Given the description of an element on the screen output the (x, y) to click on. 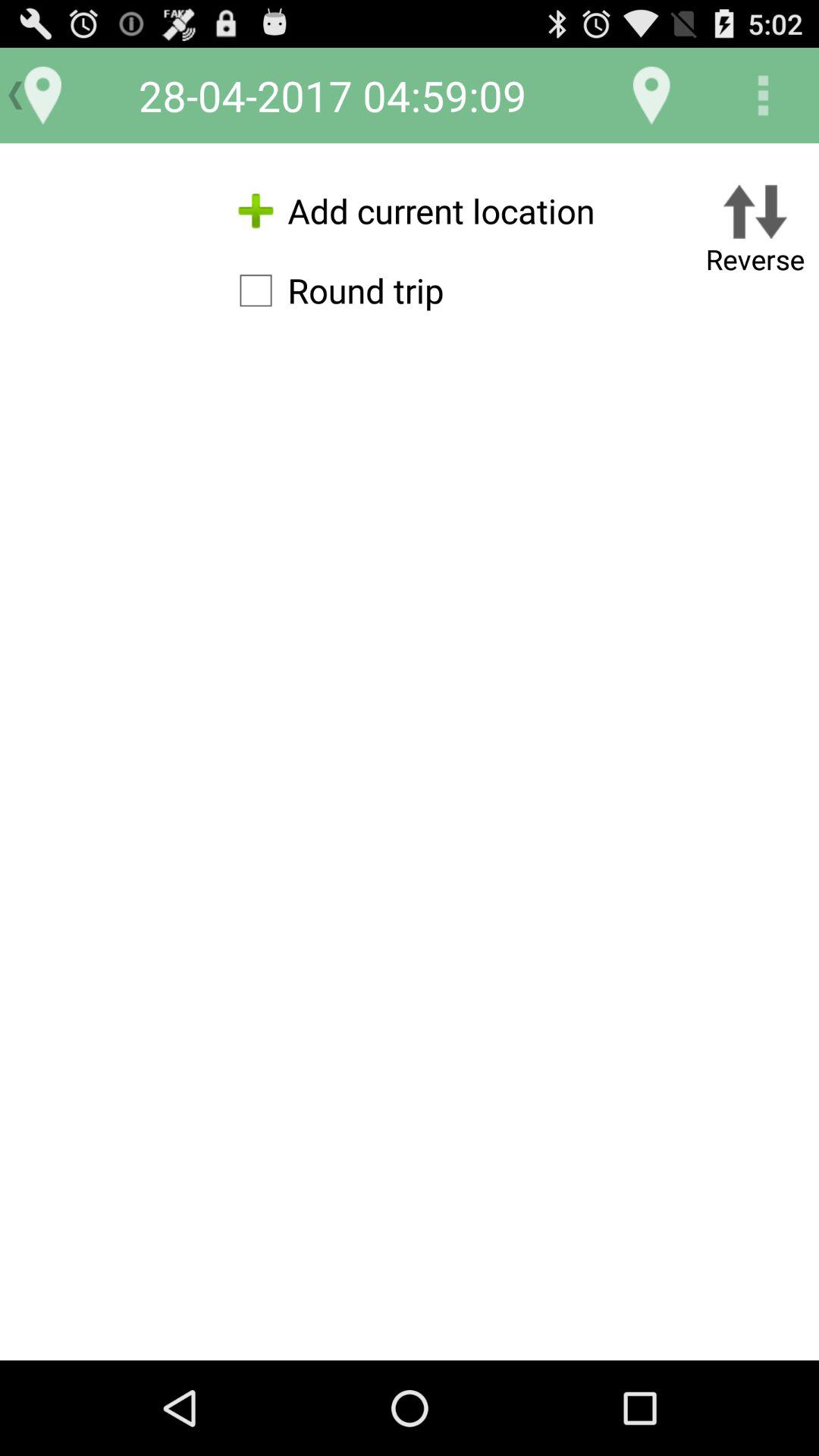
flip until round trip icon (334, 290)
